Given the description of an element on the screen output the (x, y) to click on. 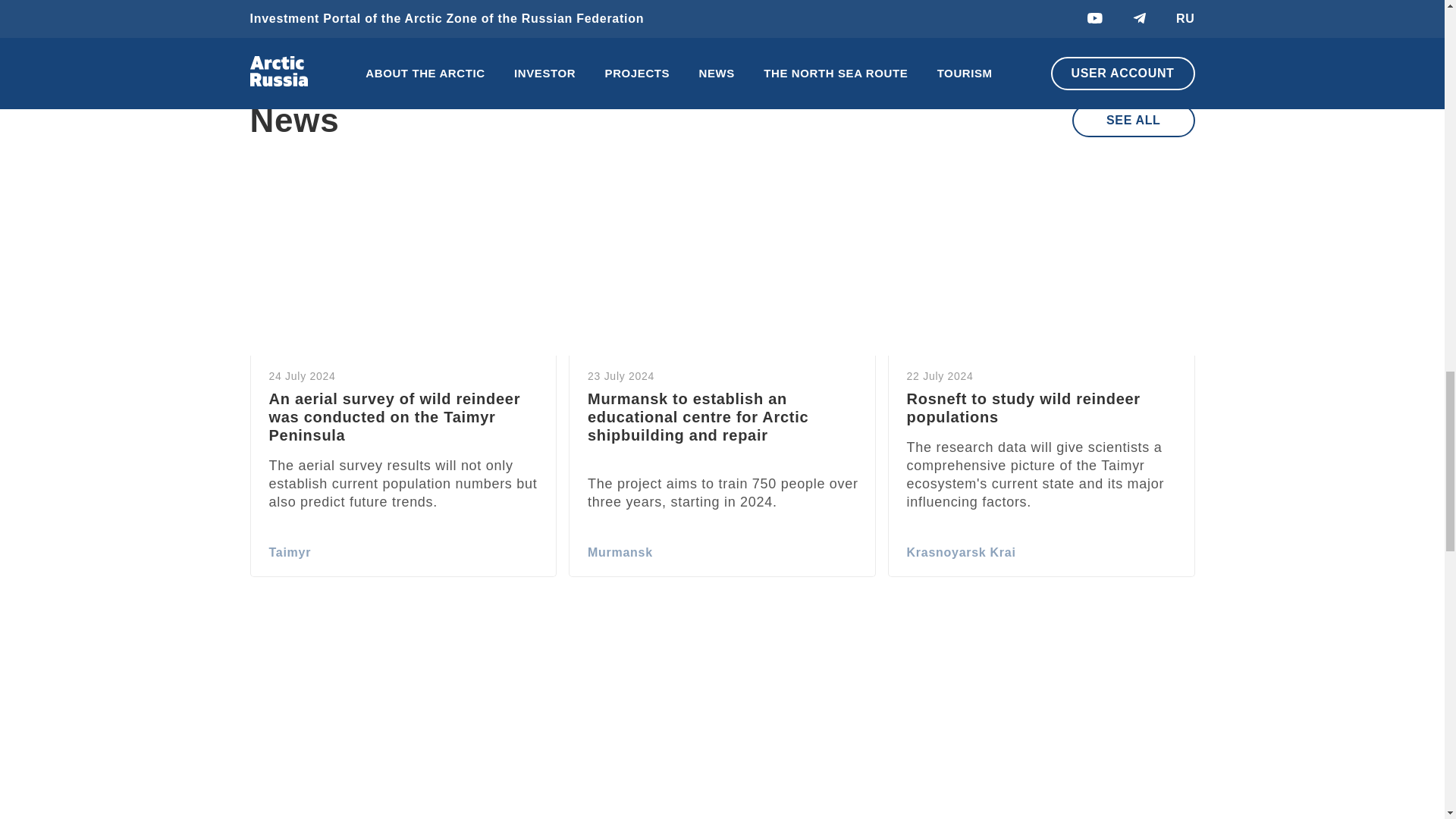
SEE ALL (1132, 120)
